Given the description of an element on the screen output the (x, y) to click on. 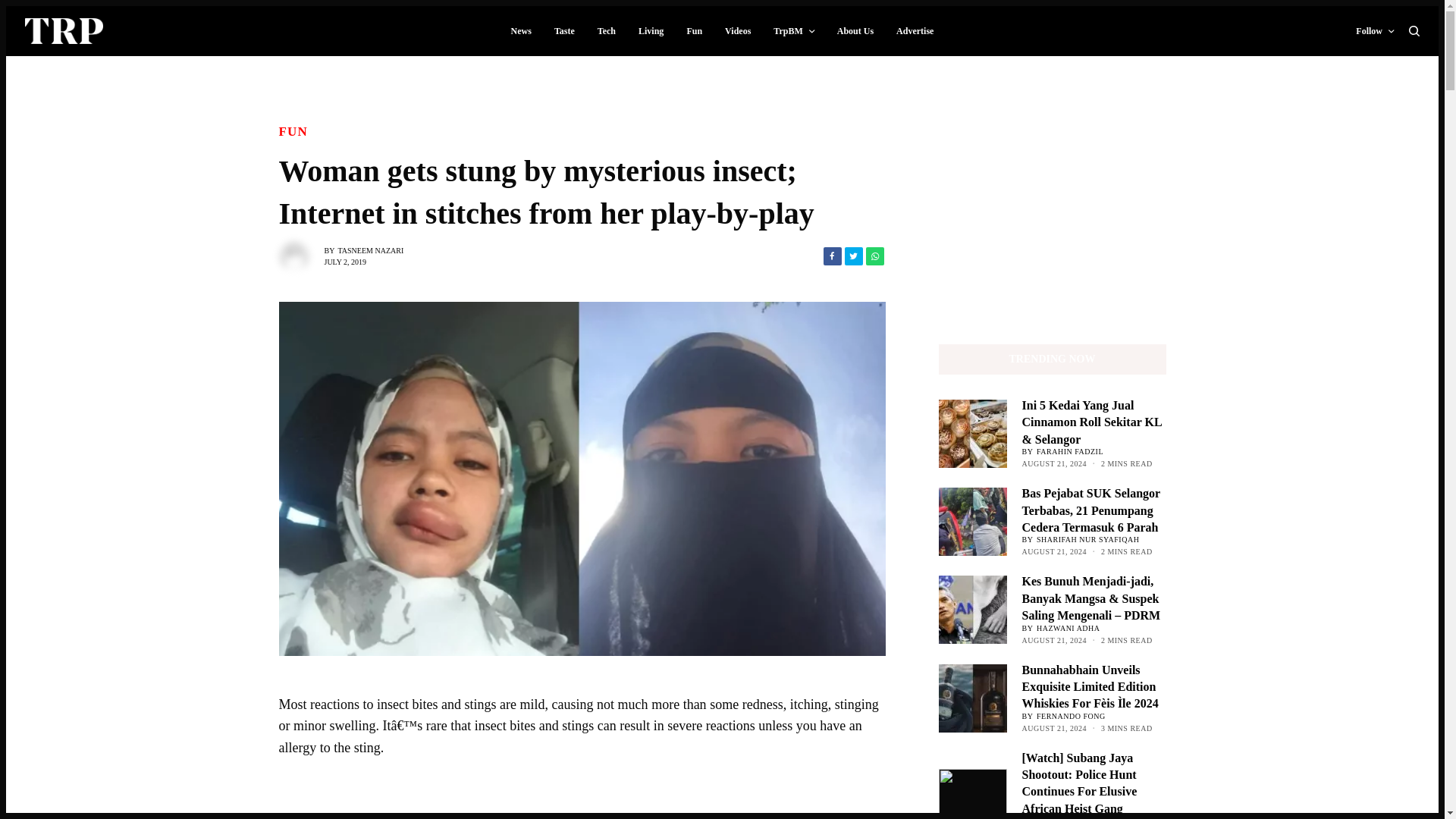
Posts by Sharifah Nur Syafiqah (1087, 539)
Fun (293, 129)
Posts by Farahin Fadzil (1069, 451)
TRP (63, 30)
TASNEEM NAZARI (370, 249)
Posts by Tasneem Nazari (370, 249)
